Given the description of an element on the screen output the (x, y) to click on. 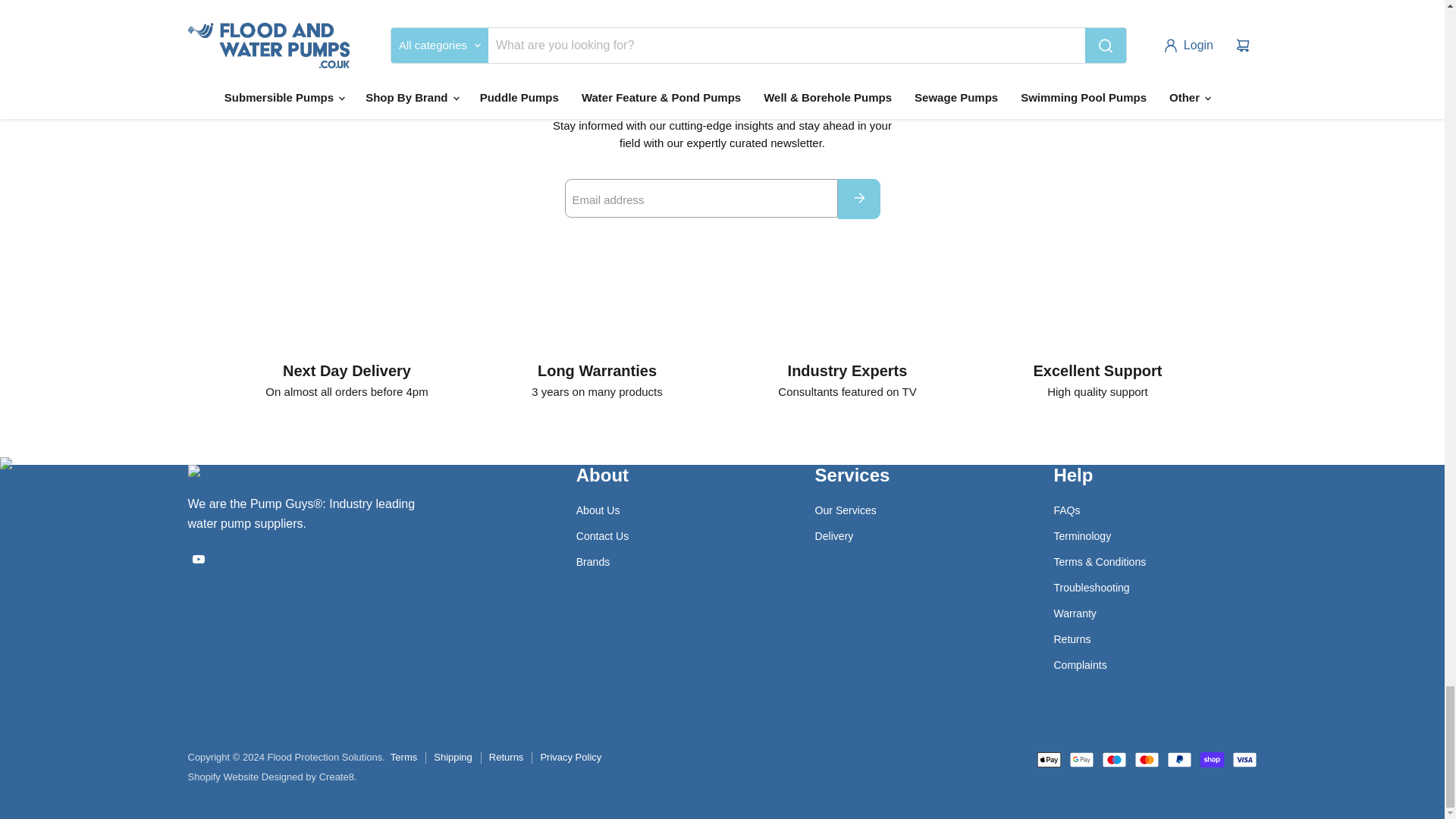
ARROW-RIGHT (857, 198)
Apple Pay (1048, 759)
YouTube (198, 558)
Maestro (1112, 759)
Google Pay (1081, 759)
